Given the description of an element on the screen output the (x, y) to click on. 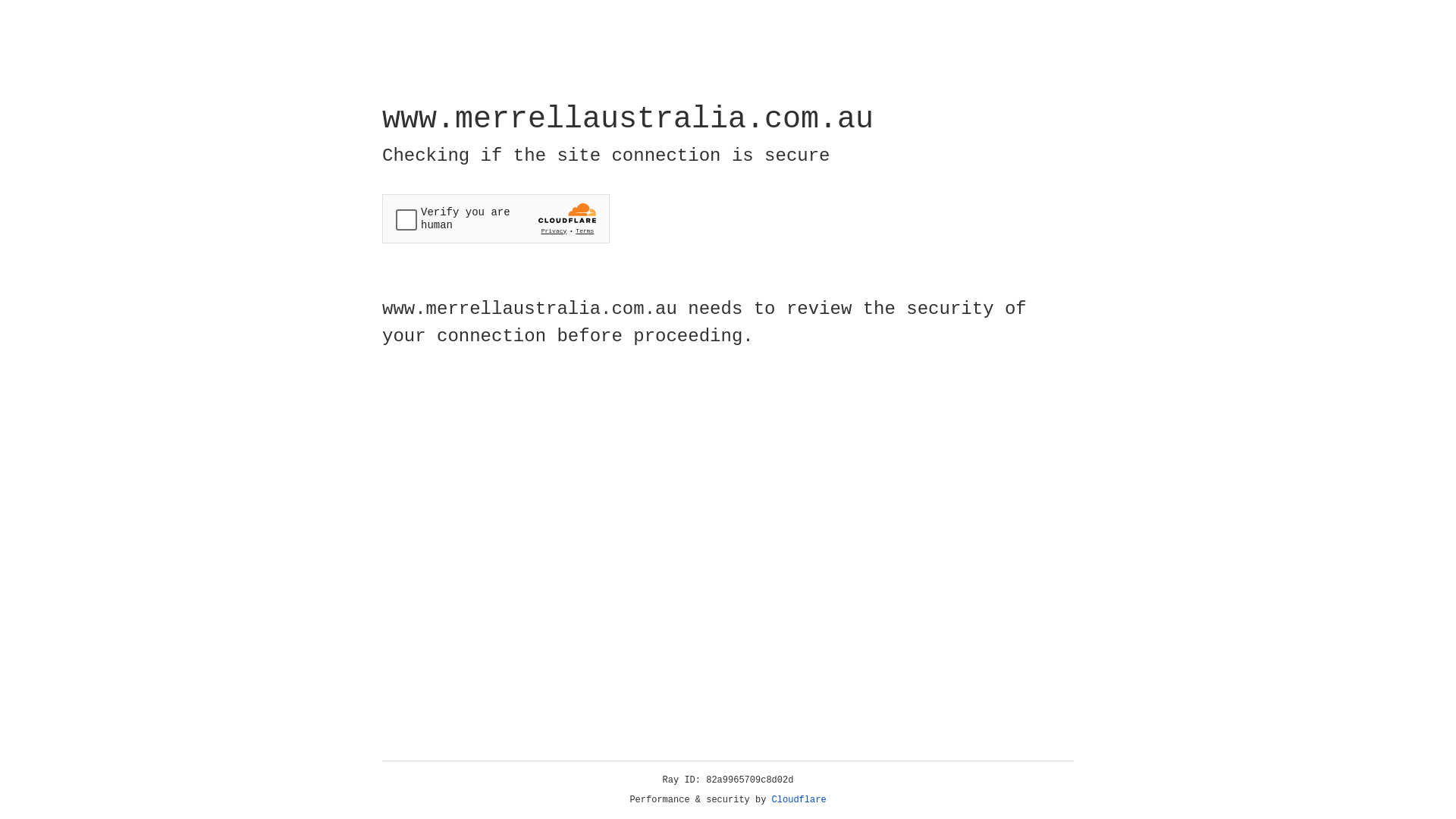
Cloudflare Element type: text (798, 799)
Widget containing a Cloudflare security challenge Element type: hover (495, 218)
